Given the description of an element on the screen output the (x, y) to click on. 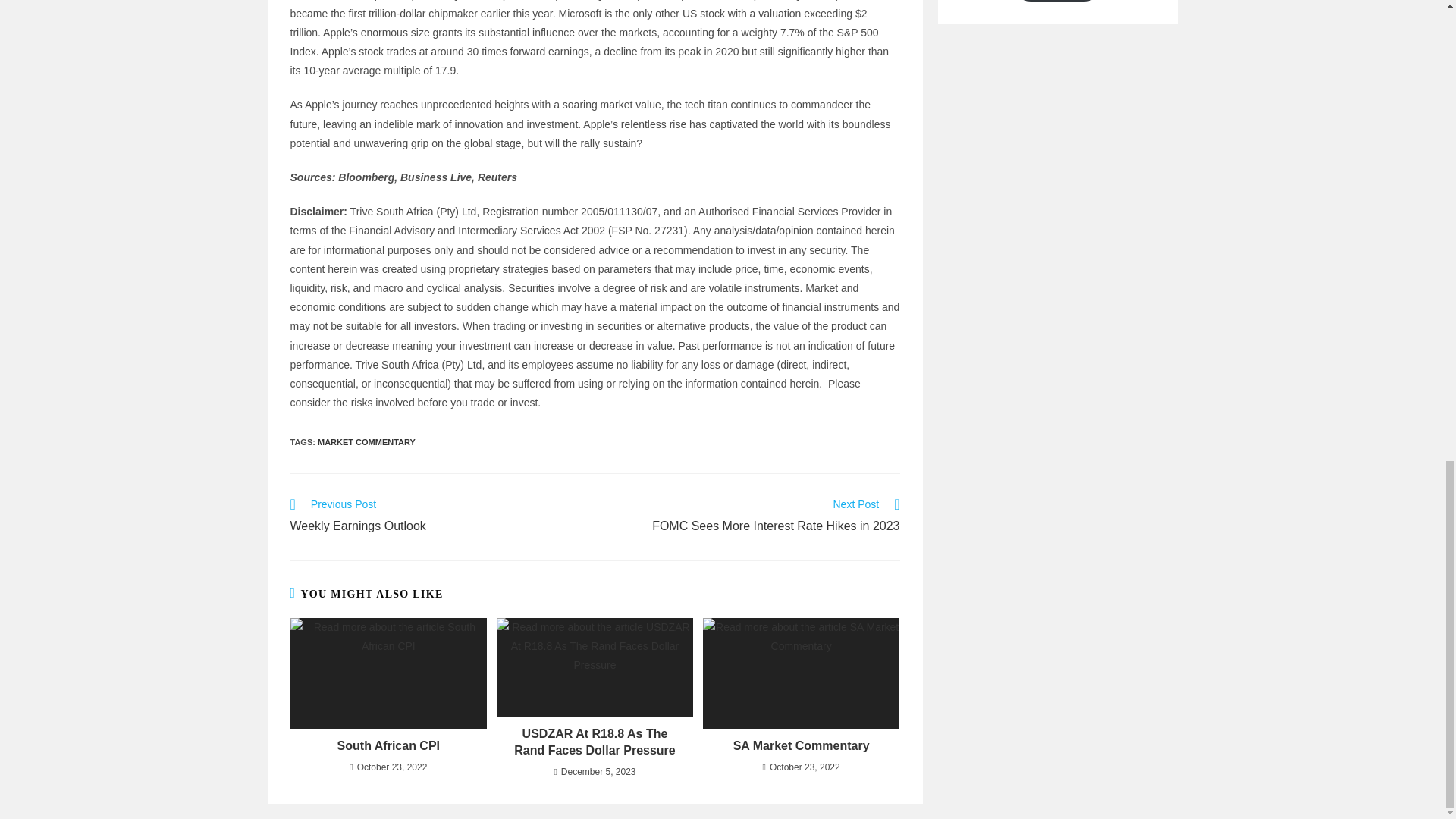
MARKET COMMENTARY (433, 516)
South African CPI (365, 441)
USDZAR At R18.8 As The Rand Faces Dollar Pressure (387, 745)
Get Started (594, 742)
SA Market Commentary (1057, 0)
